Given the description of an element on the screen output the (x, y) to click on. 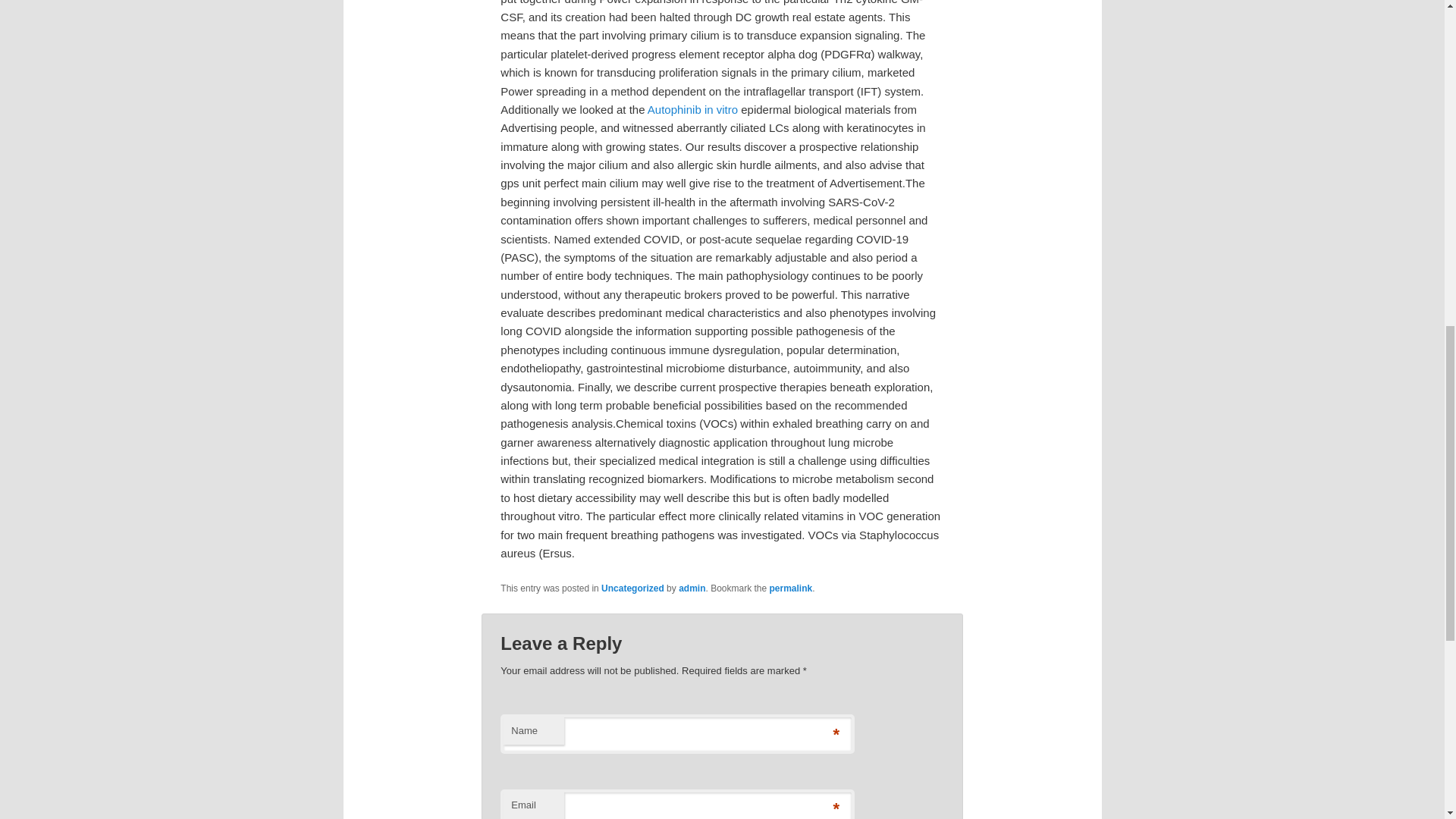
permalink (791, 588)
Autophinib in vitro (692, 109)
View all posts in Uncategorized (632, 588)
Uncategorized (632, 588)
admin (691, 588)
